Given the description of an element on the screen output the (x, y) to click on. 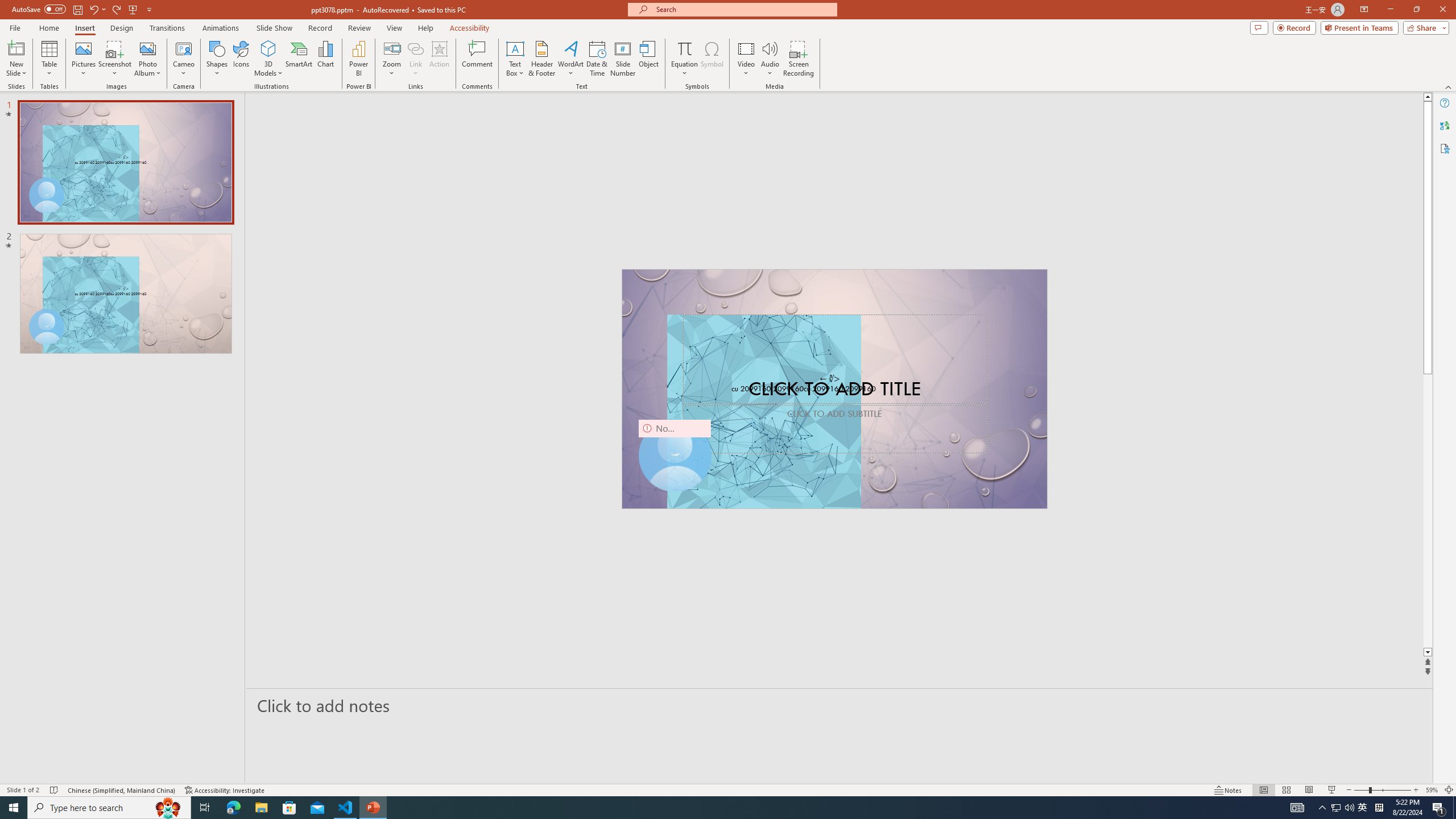
Chart... (325, 58)
Comment (476, 58)
Equation (683, 58)
